Given the description of an element on the screen output the (x, y) to click on. 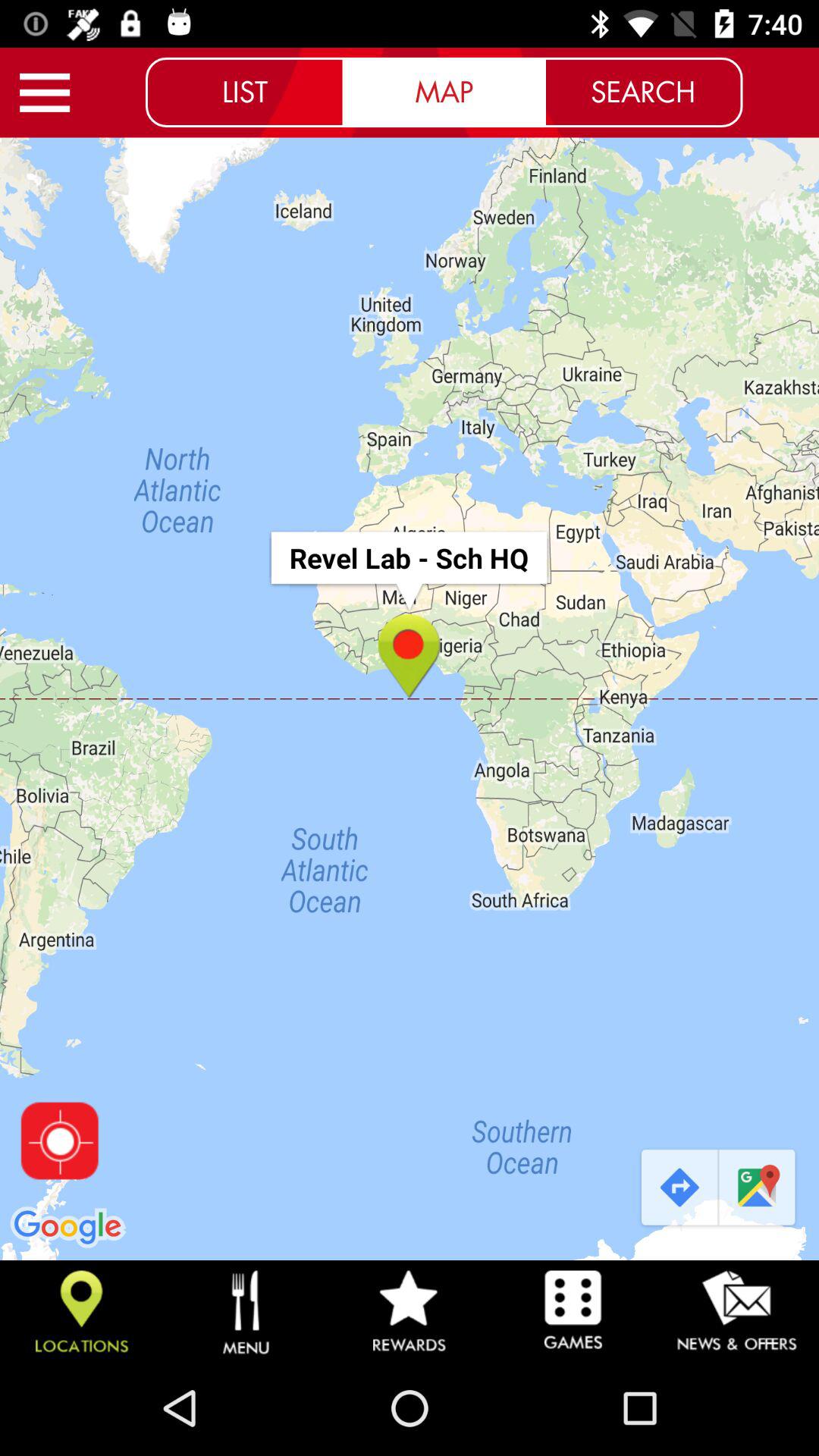
launch icon below list icon (409, 698)
